Given the description of an element on the screen output the (x, y) to click on. 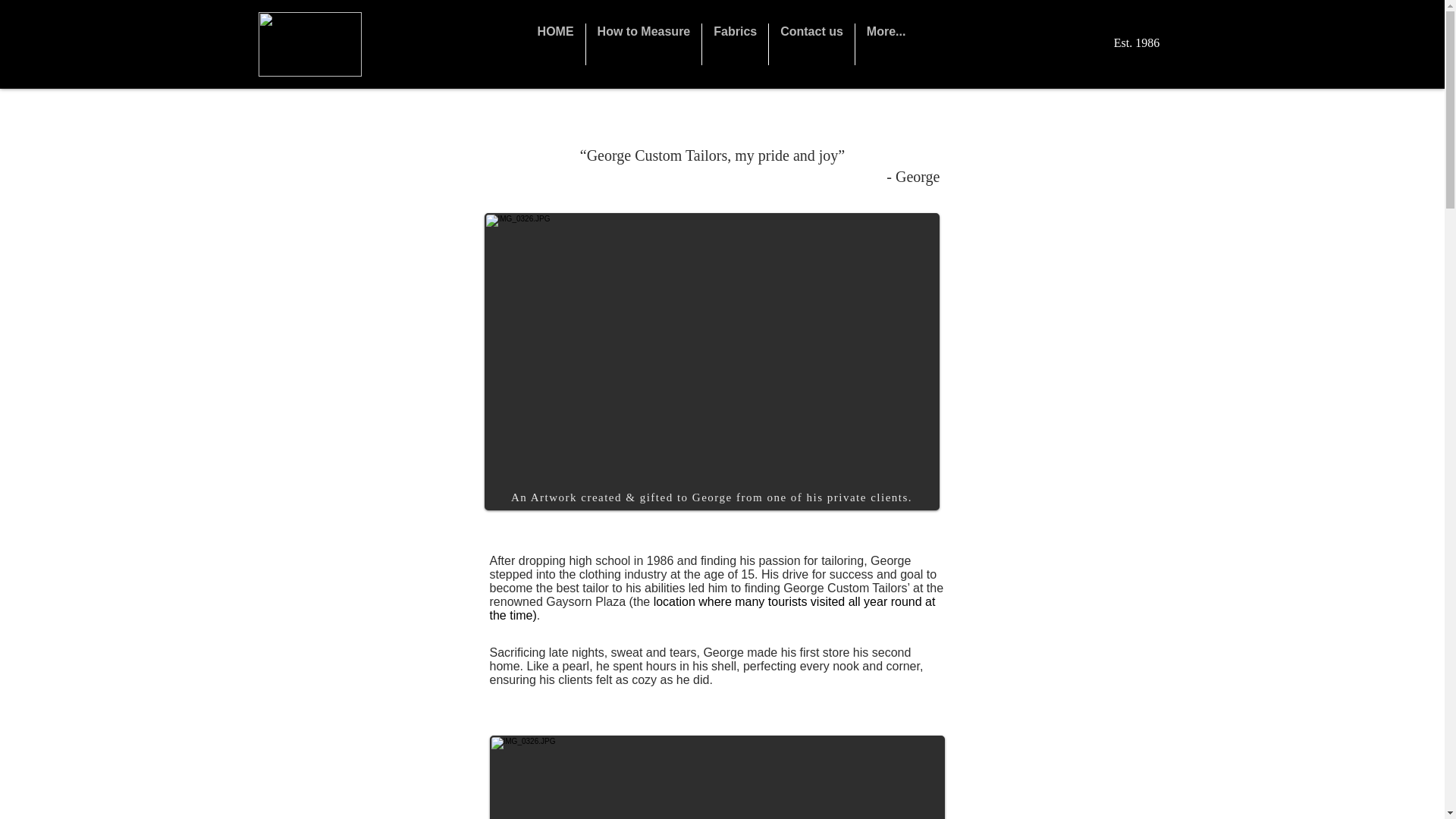
Fabrics (734, 44)
Contact us (811, 44)
HOME (555, 44)
How to Measure (643, 44)
